Given the description of an element on the screen output the (x, y) to click on. 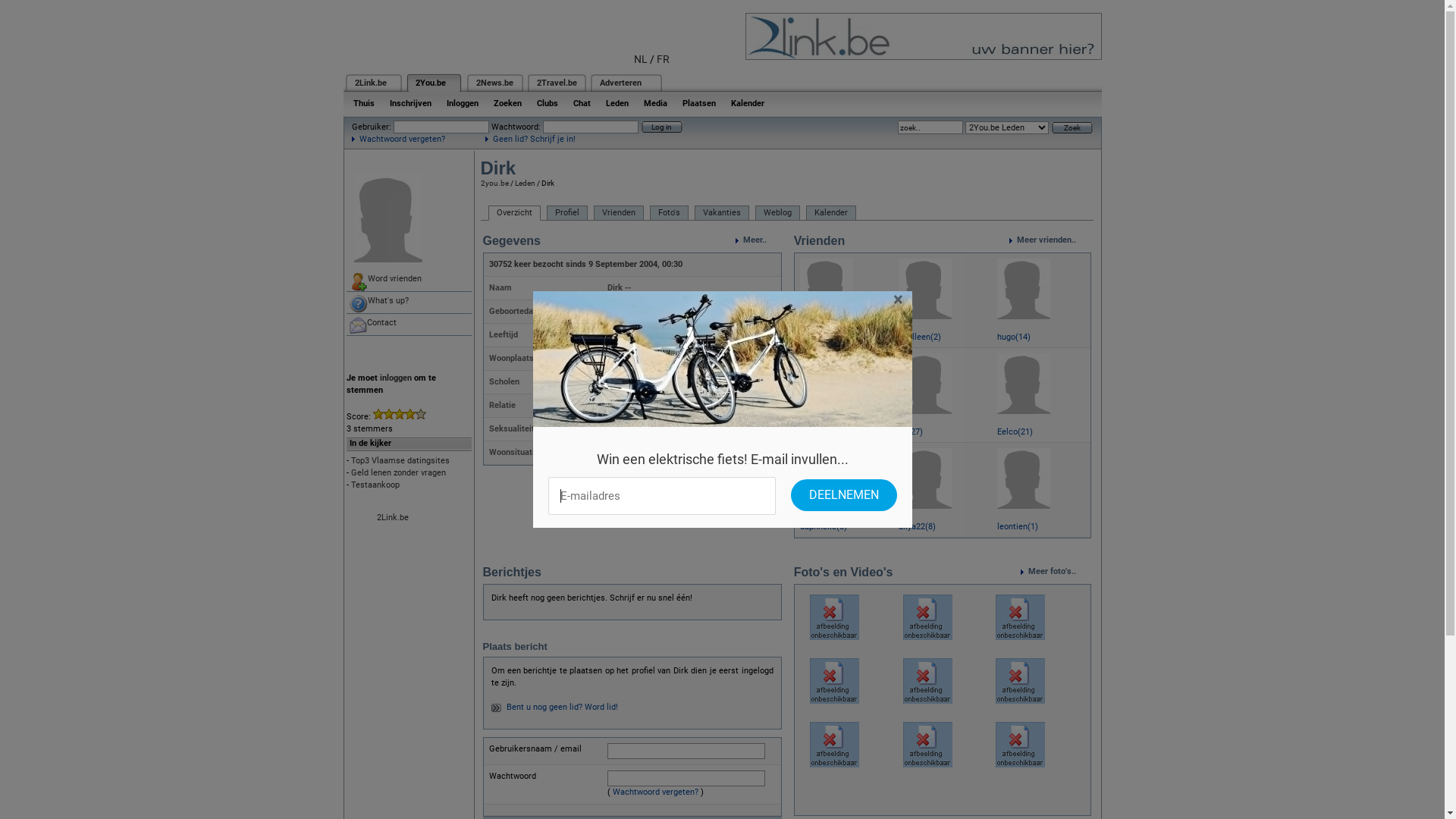
inloggen Element type: text (395, 377)
Overzicht Element type: text (514, 212)
Clubs Element type: text (547, 103)
Bokrijk St-Jozefinstituut Element type: text (653, 381)
Vakanties Element type: text (721, 212)
hugo(14) Element type: text (1013, 337)
daphneke(8) Element type: text (823, 526)
Eelco(21) Element type: text (1014, 431)
Word vrienden Element type: text (407, 280)
Rita(1) Element type: text (812, 337)
leontien(1) Element type: text (1017, 526)
2Link.be Element type: text (391, 517)
2Link.be Element type: text (370, 82)
Vrienden Element type: text (618, 212)
lieve(25) Element type: text (816, 431)
What's up? Element type: text (407, 302)
Kalender Element type: text (830, 212)
Wachtwoord vergeten? Element type: text (398, 139)
2Travel.be Element type: text (556, 82)
Kalender Element type: text (747, 103)
Zoek Element type: text (1071, 126)
Meer vrienden.. Element type: text (1049, 240)
Geld lenen zonder vragen Element type: text (397, 472)
Foto's Element type: text (668, 212)
Adverteren Element type: text (619, 82)
Zoeken Element type: text (506, 103)
Leden Element type: text (616, 103)
Media Element type: text (654, 103)
Top3 Vlaamse datingsites Element type: text (399, 460)
2you.be Element type: text (494, 182)
10alleen(2) Element type: text (919, 337)
Weblog Element type: text (777, 212)
Leden Element type: text (524, 182)
Inloggen Element type: text (461, 103)
Profiel Element type: text (566, 212)
Contact Element type: text (407, 324)
aliya22(8) Element type: text (916, 526)
Plaatsen Element type: text (698, 103)
FR Element type: text (662, 59)
NL Element type: text (640, 59)
Testaankoop Element type: text (374, 484)
Inschrijven Element type: text (410, 103)
Chat Element type: text (581, 103)
Meer.. Element type: text (758, 240)
Wachtwoord vergeten? Element type: text (655, 792)
Bent u nog geen lid? Word lid! Element type: text (562, 707)
2You.be Element type: text (430, 82)
Thuis Element type: text (363, 103)
Geen lid? Schrijf je in! Element type: text (530, 139)
Log in Element type: text (661, 126)
lili(27) Element type: text (910, 431)
Meer foto's.. Element type: text (1055, 571)
2News.be Element type: text (494, 82)
